Given the description of an element on the screen output the (x, y) to click on. 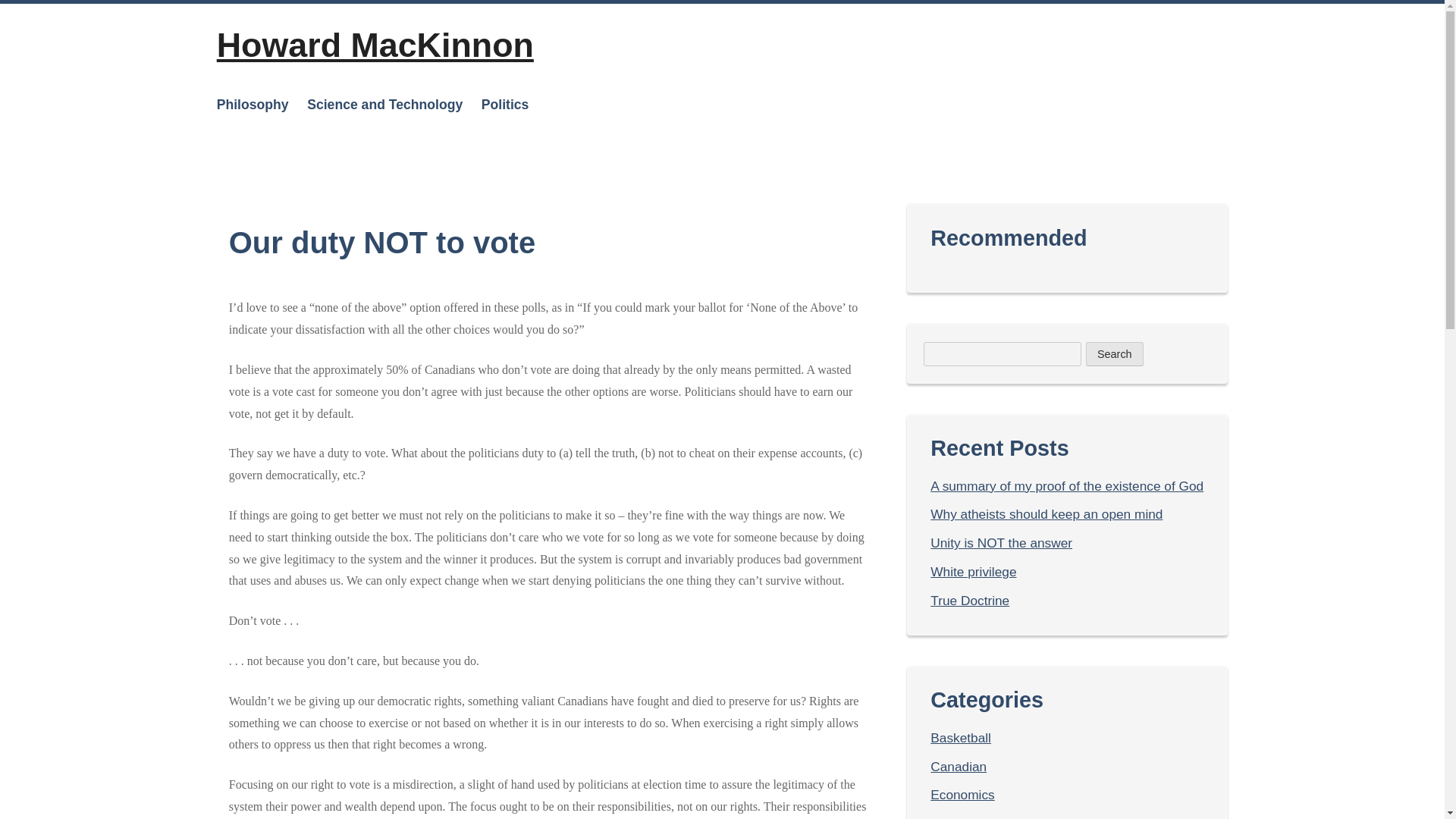
Science and Technology (385, 104)
International (534, 149)
True Doctrine (969, 600)
Howard MacKinnon (375, 44)
Nova Scotia (534, 222)
Unity is NOT the answer (1000, 542)
Search (1114, 354)
Politics (505, 104)
Theology (279, 149)
Philosophy (252, 104)
Economics (962, 794)
White privilege (973, 571)
General (953, 817)
Why atheists should keep an open mind (1045, 513)
A summary of my proof of the existence of God (1067, 485)
